Given the description of an element on the screen output the (x, y) to click on. 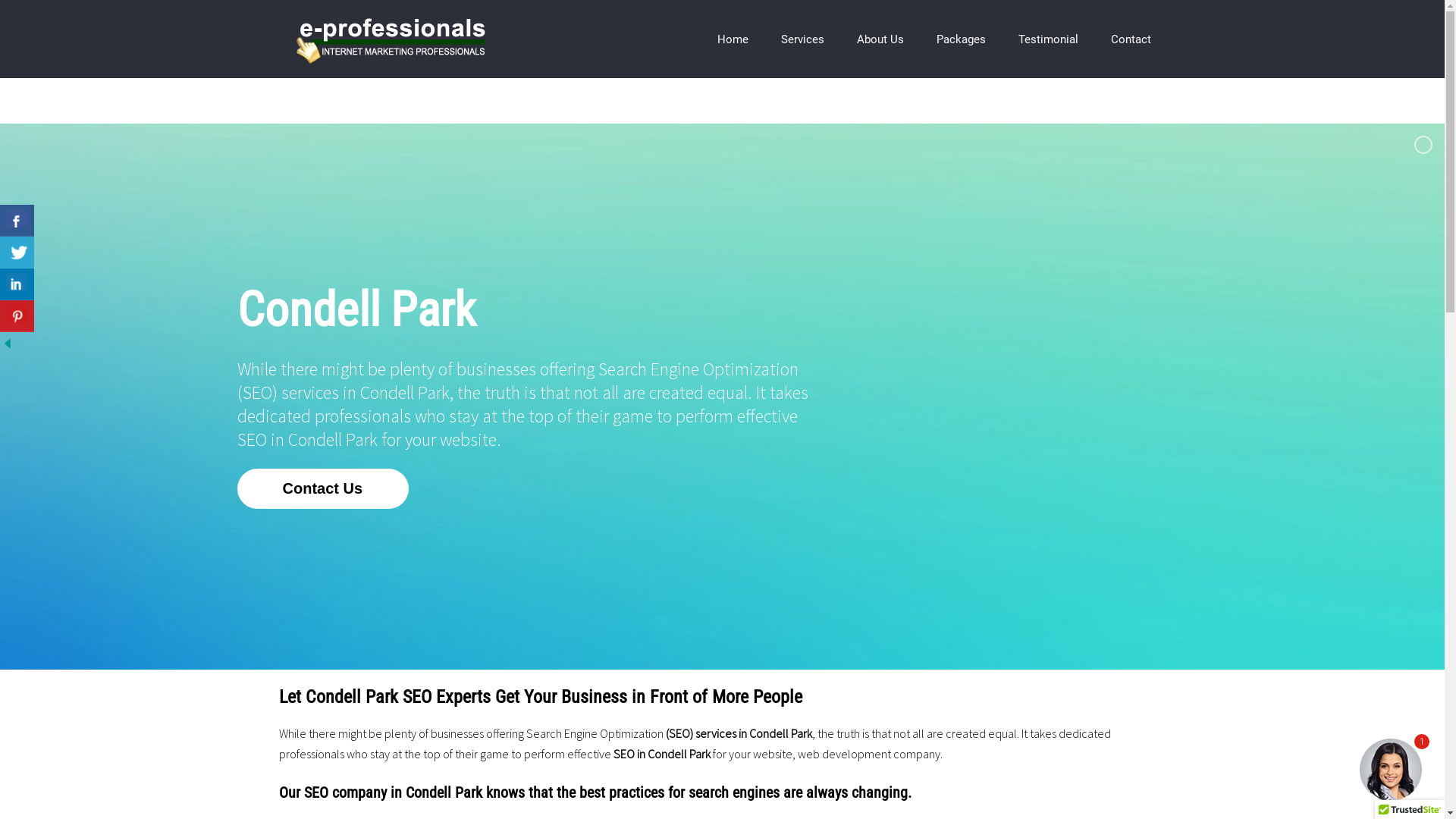
Share On Pinterest Element type: hover (17, 316)
Share On Linkedin Element type: hover (17, 284)
Share On Twitter Element type: hover (17, 252)
About Us Element type: text (880, 38)
Services Element type: text (802, 38)
1 Element type: text (1316, 771)
Testimonial Element type: text (1047, 38)
Packages Element type: text (960, 38)
Share This With Your Friends Element type: hover (18, 278)
Share On Facebook Element type: hover (17, 220)
Hide Buttons Element type: hover (7, 341)
Home Element type: text (732, 38)
Contact Element type: text (1130, 38)
